Given the description of an element on the screen output the (x, y) to click on. 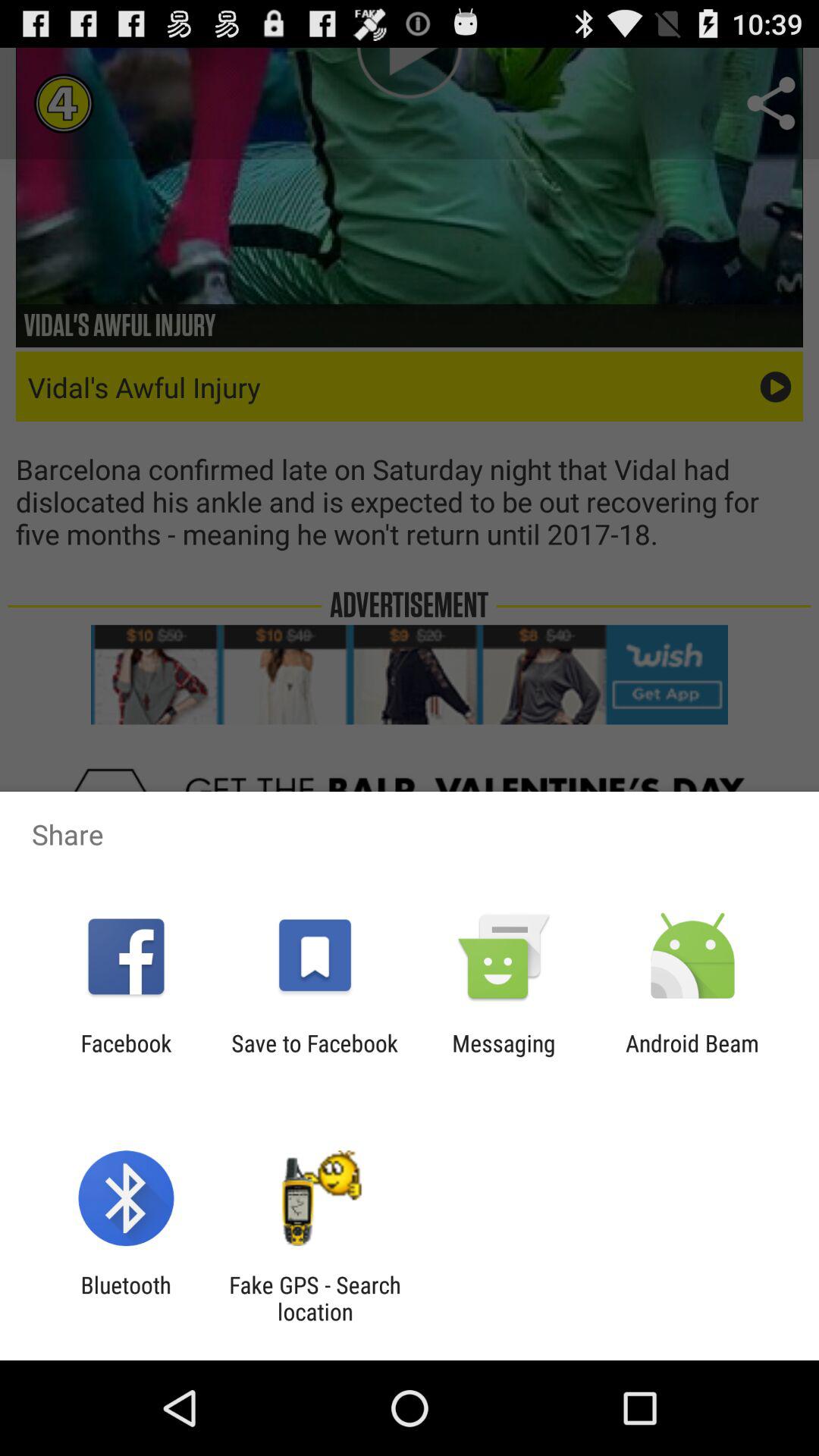
scroll to android beam item (692, 1056)
